Given the description of an element on the screen output the (x, y) to click on. 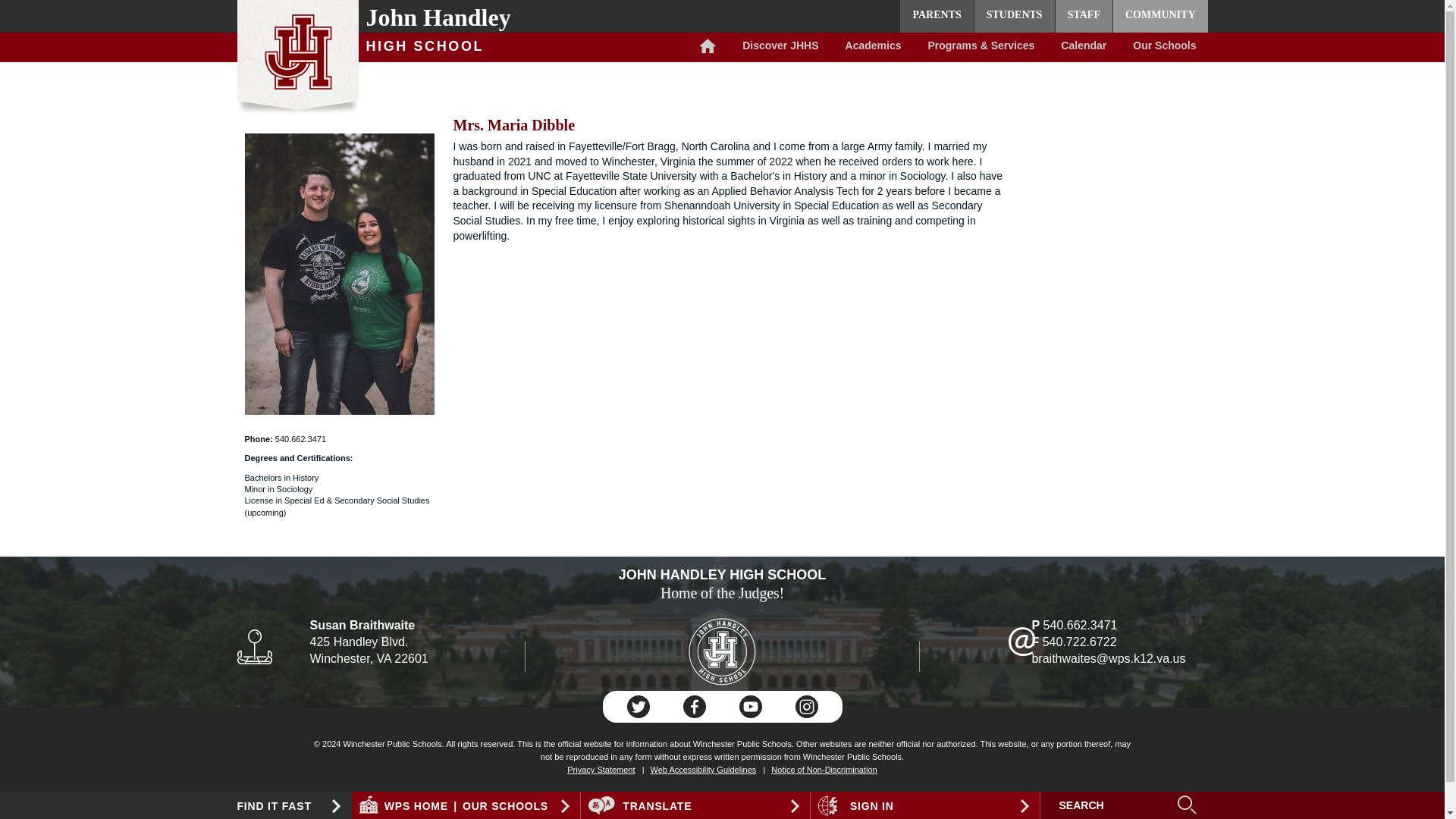
Discover JHHS (779, 47)
SEARCH (1110, 805)
PARENTS (935, 16)
STUDENTS (1014, 16)
Click to email the primary contact (379, 802)
STAFF (1083, 16)
COMMUNITY (1160, 16)
Finalsite - all rights reserved (281, 807)
